Given the description of an element on the screen output the (x, y) to click on. 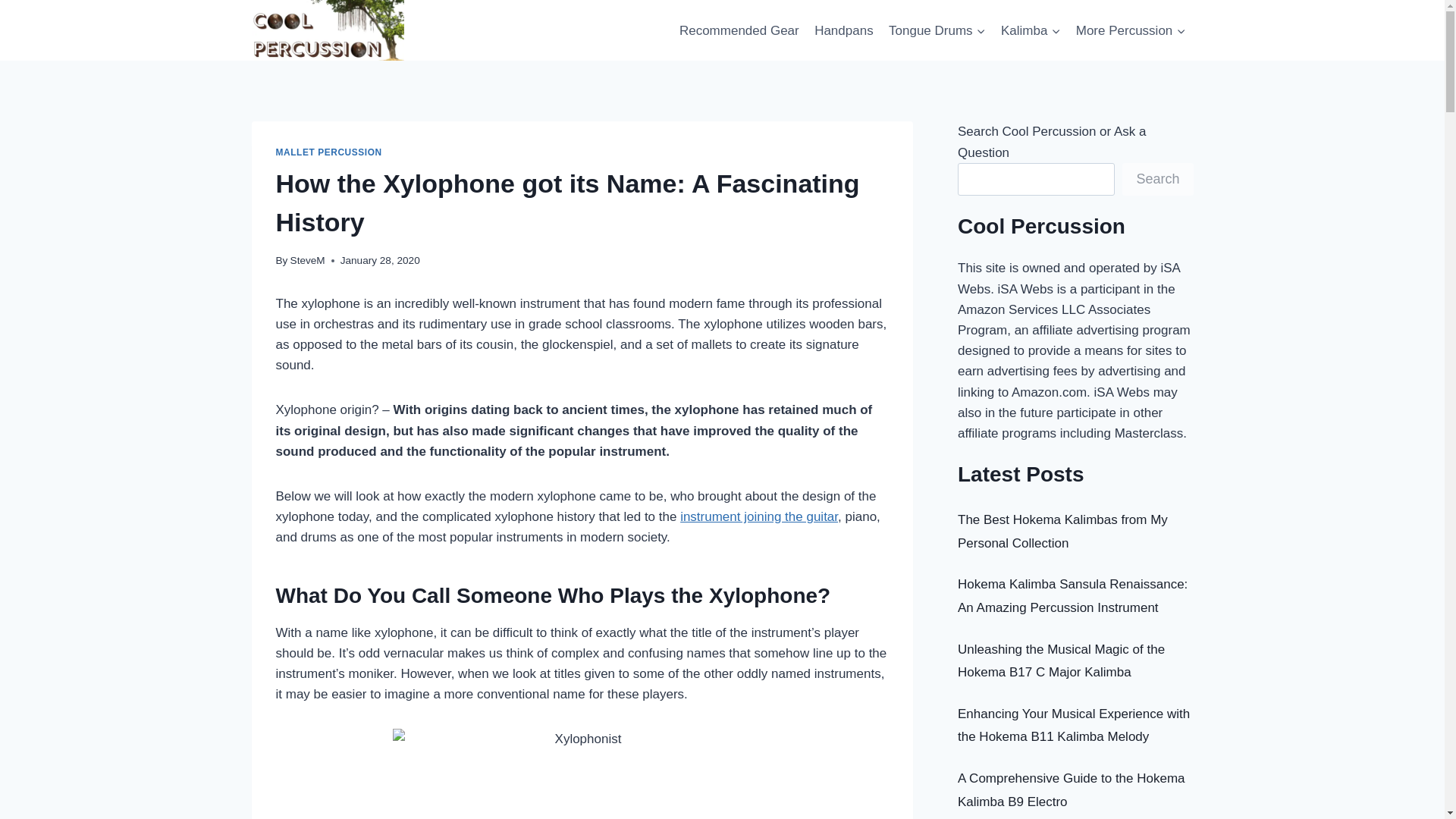
Kalimba (1030, 30)
Handpans (843, 30)
SteveM (306, 260)
More Percussion (1130, 30)
Recommended Gear (738, 30)
instrument joining the guitar (758, 516)
MALLET PERCUSSION (328, 152)
Tongue Drums (936, 30)
